Given the description of an element on the screen output the (x, y) to click on. 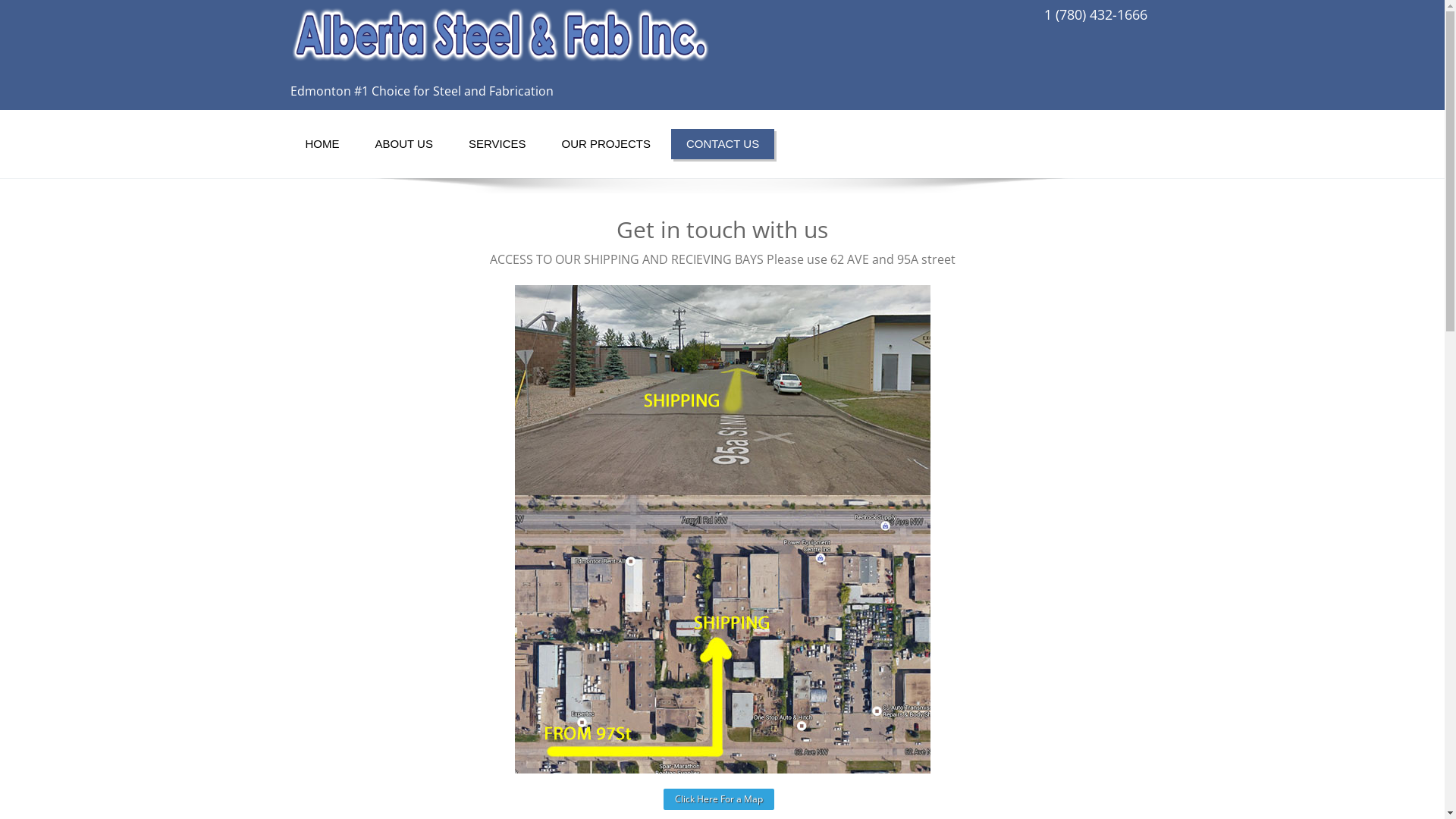
OUR PROJECTS Element type: text (605, 143)
1 (780) 432-1666 Element type: text (1094, 14)
HOME Element type: text (321, 143)
SERVICES Element type: text (497, 143)
CONTACT US Element type: text (722, 143)
Click Here For a Map Element type: text (717, 798)
Alberta Steel Element type: hover (499, 38)
ABOUT US Element type: text (403, 143)
